Given the description of an element on the screen output the (x, y) to click on. 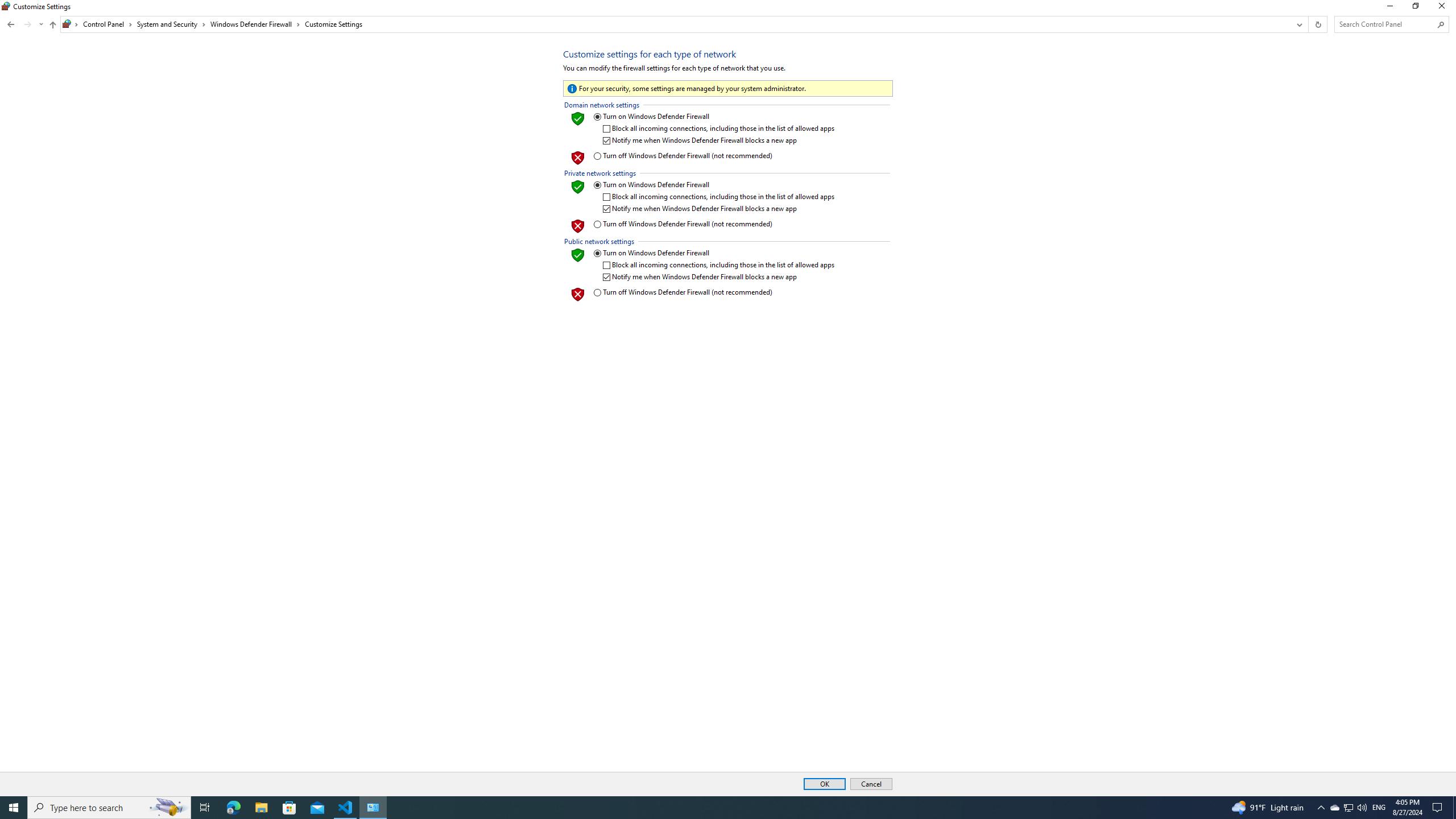
Refresh "Customize Settings" (F5) (1316, 23)
System and Security (171, 23)
